Given the description of an element on the screen output the (x, y) to click on. 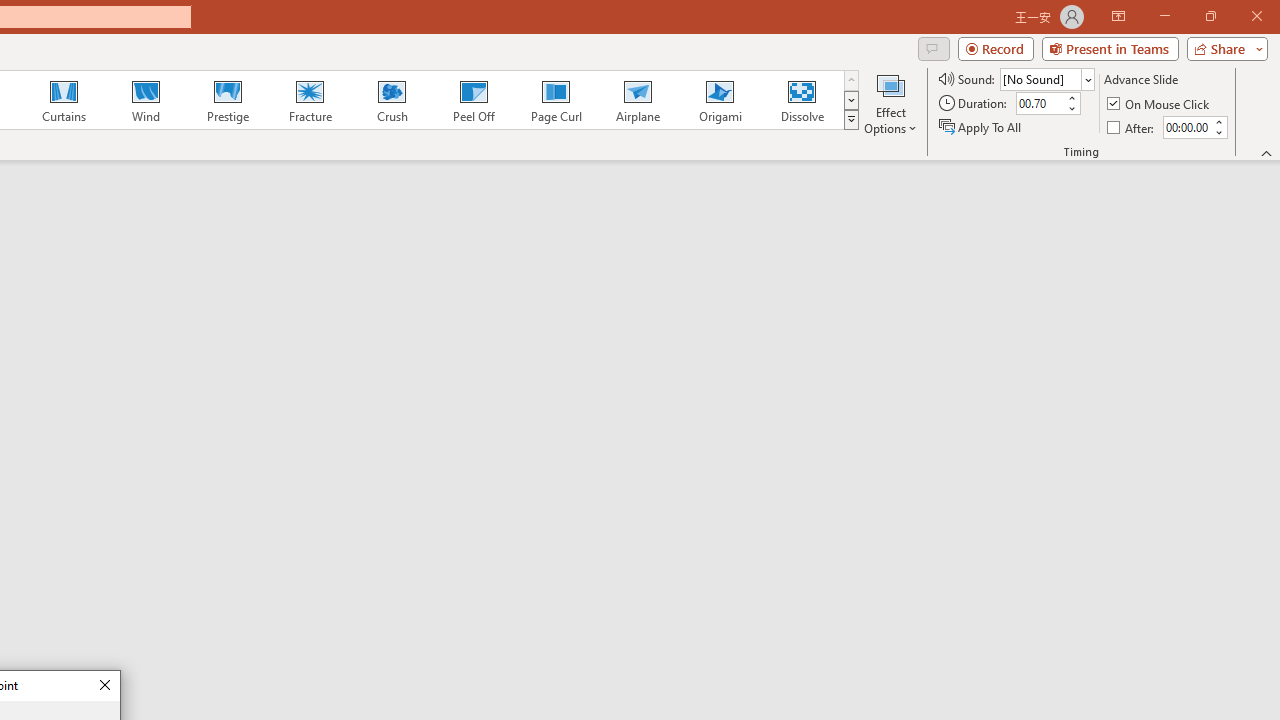
Sound (1046, 78)
Wind (145, 100)
Transition Effects (850, 120)
Airplane (637, 100)
On Mouse Click (1159, 103)
Peel Off (473, 100)
